Given the description of an element on the screen output the (x, y) to click on. 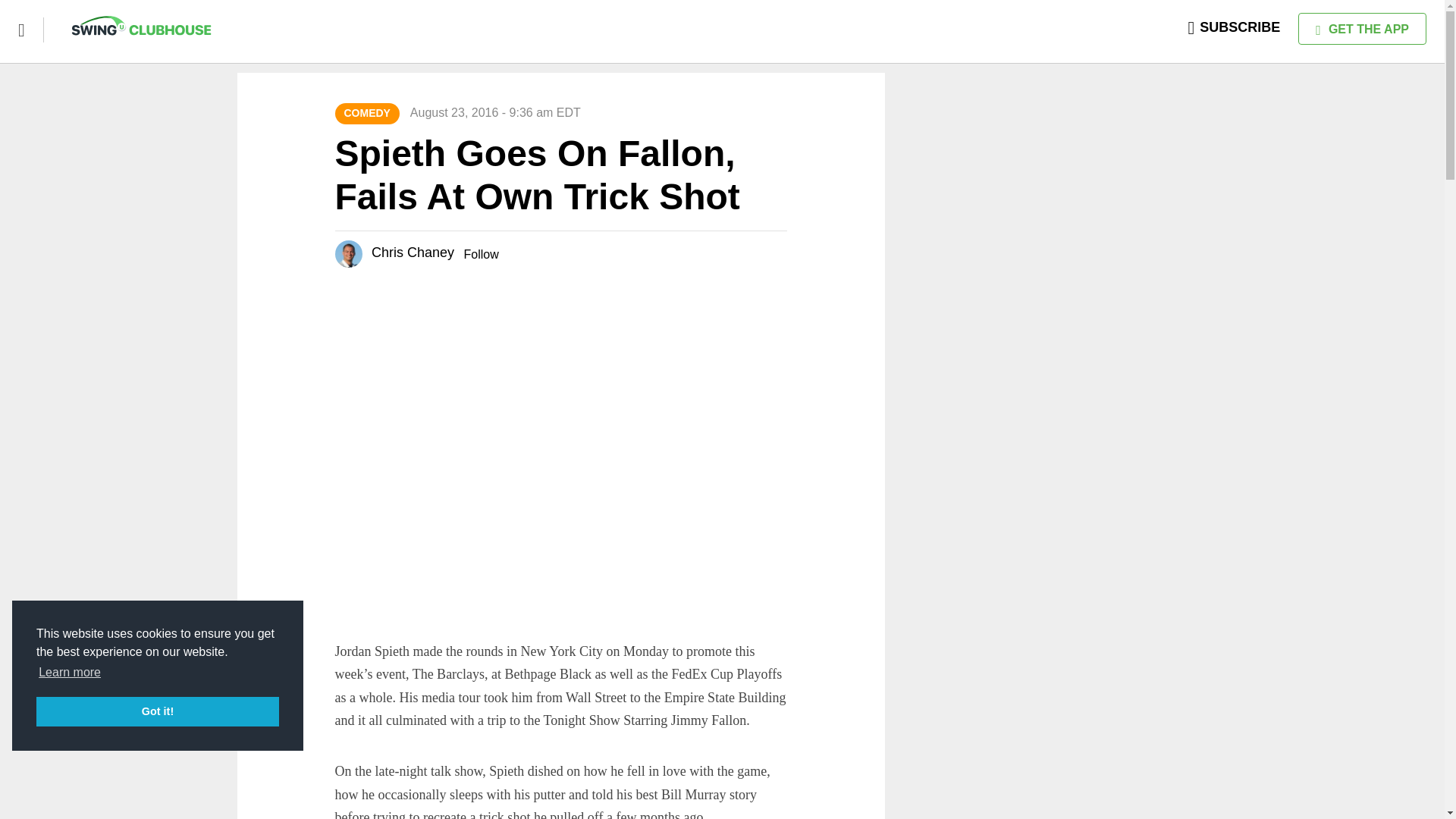
Got it! (157, 711)
GET THE APP (1362, 29)
Learn more (69, 671)
SUBSCRIBE (1234, 27)
Follow (480, 254)
Chris Chaney (412, 252)
